Given the description of an element on the screen output the (x, y) to click on. 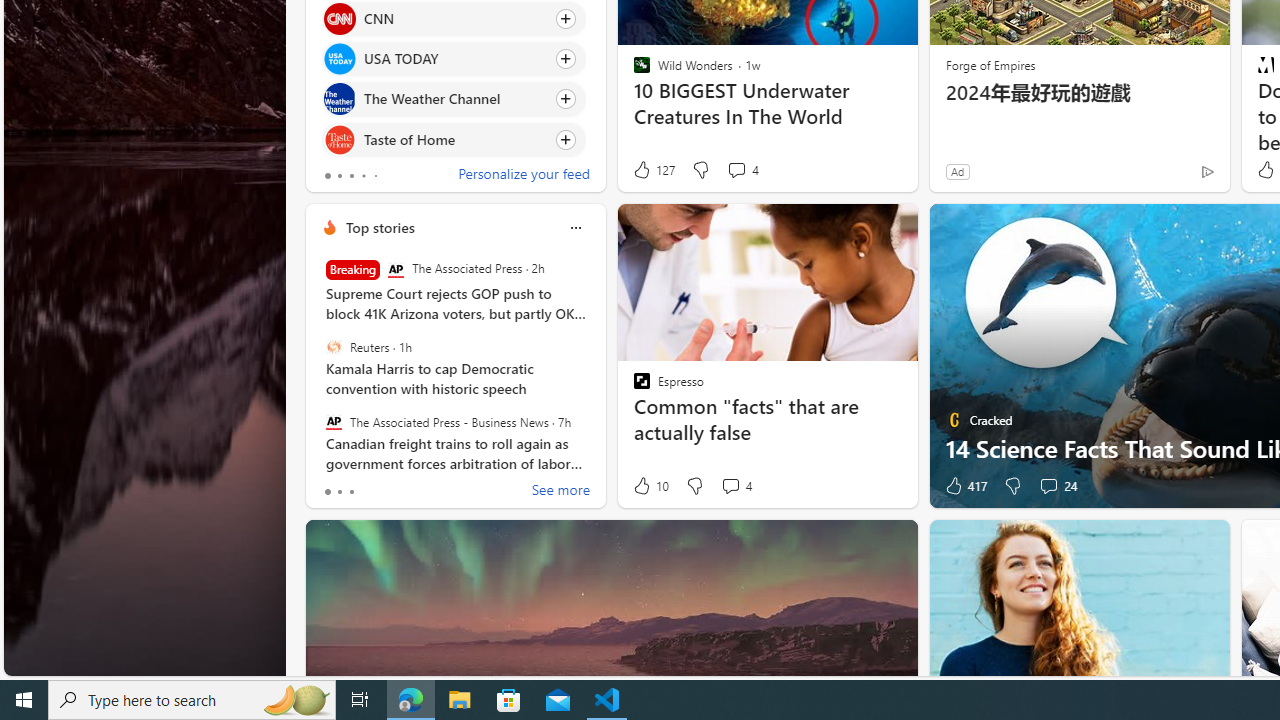
Click to follow source USA TODAY (453, 59)
Top stories (379, 227)
View comments 24 Comment (1048, 485)
10 Like (650, 485)
417 Like (964, 485)
The Weather Channel (338, 98)
127 Like (653, 170)
View comments 4 Comment (735, 485)
View comments 24 Comment (1057, 485)
Personalize your feed (523, 175)
